Given the description of an element on the screen output the (x, y) to click on. 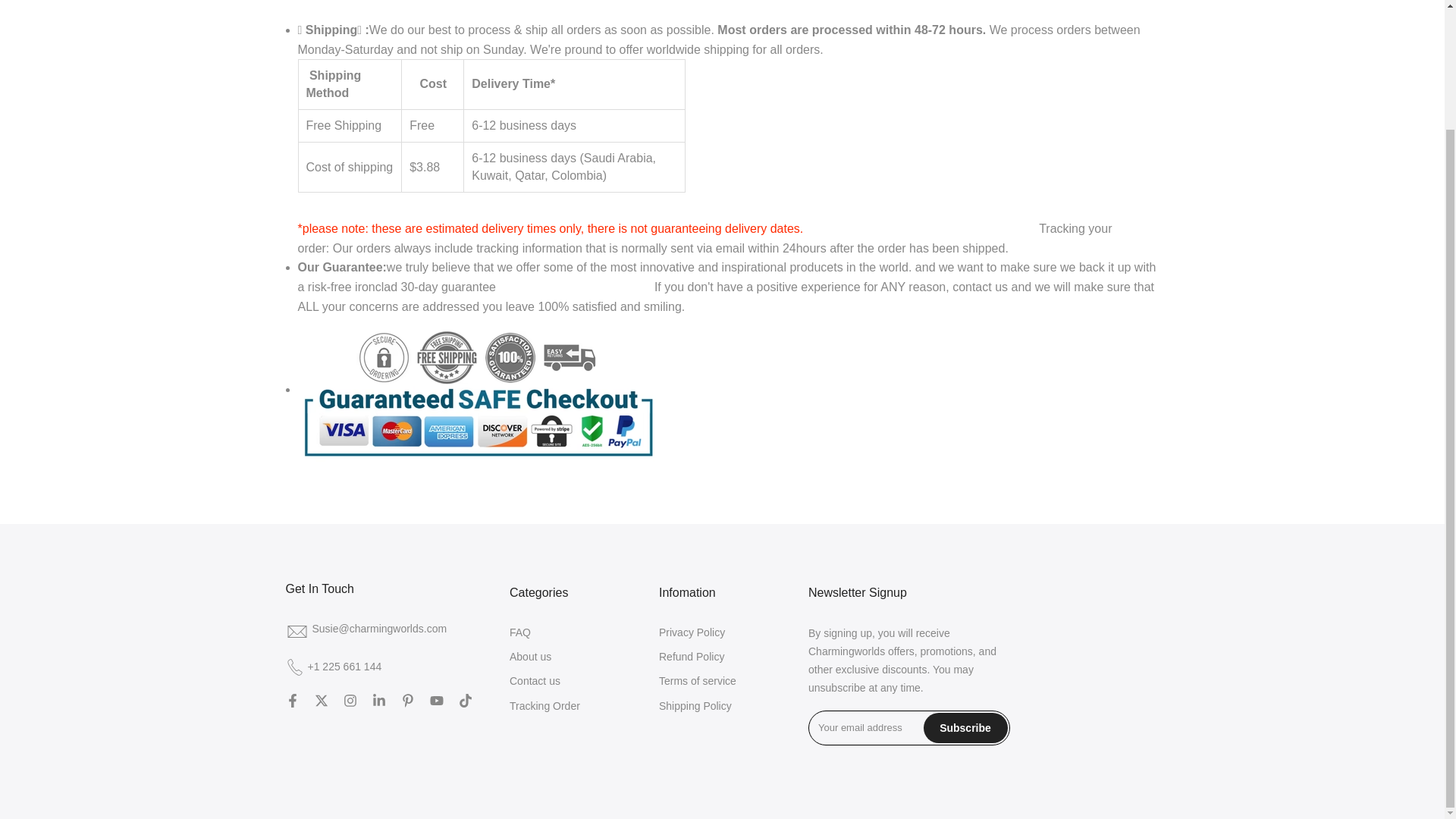
FAQ (520, 632)
